Given the description of an element on the screen output the (x, y) to click on. 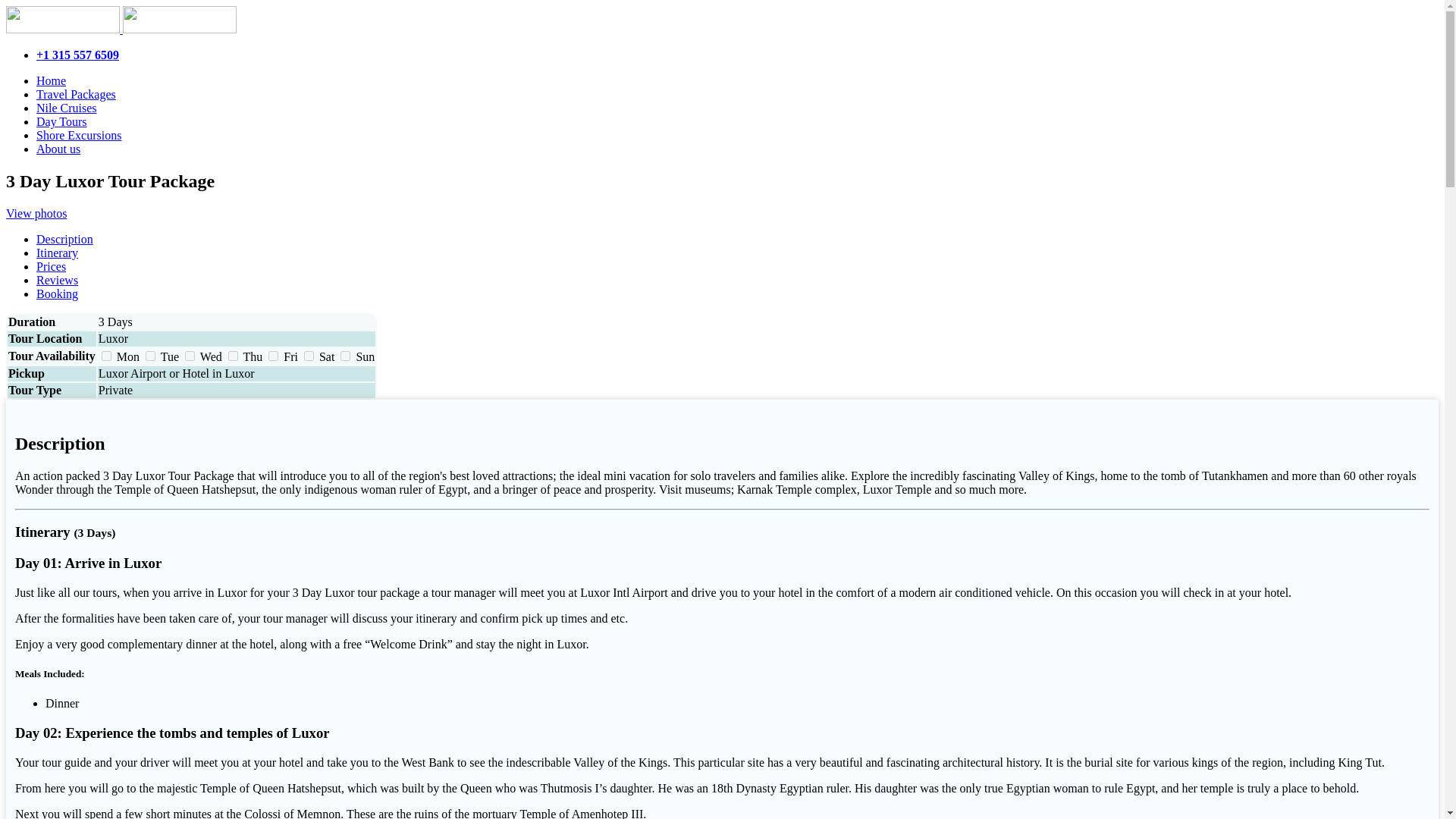
1 (233, 356)
Itinerary (57, 252)
Day Tours (61, 121)
Travel Packages (76, 93)
1 (272, 356)
Reviews (57, 279)
Prices (50, 266)
1 (106, 356)
1 (309, 356)
Shore Excursions (78, 134)
1 (150, 356)
About us (58, 148)
Booking (57, 293)
Nile Cruises (66, 107)
Photo title (35, 213)
